Given the description of an element on the screen output the (x, y) to click on. 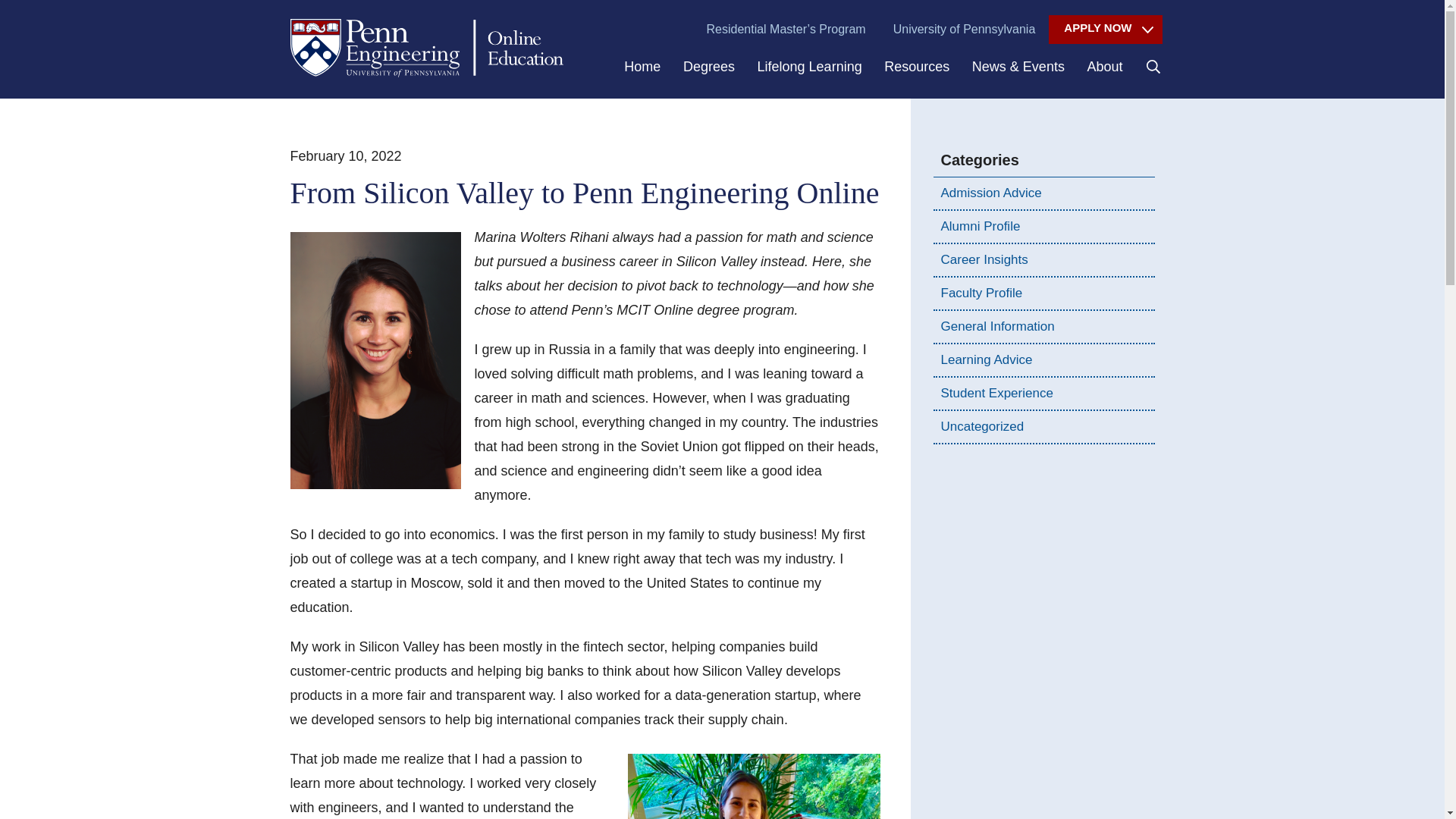
University of Pennsylvania (964, 29)
Degrees (709, 76)
Home (641, 76)
